Given the description of an element on the screen output the (x, y) to click on. 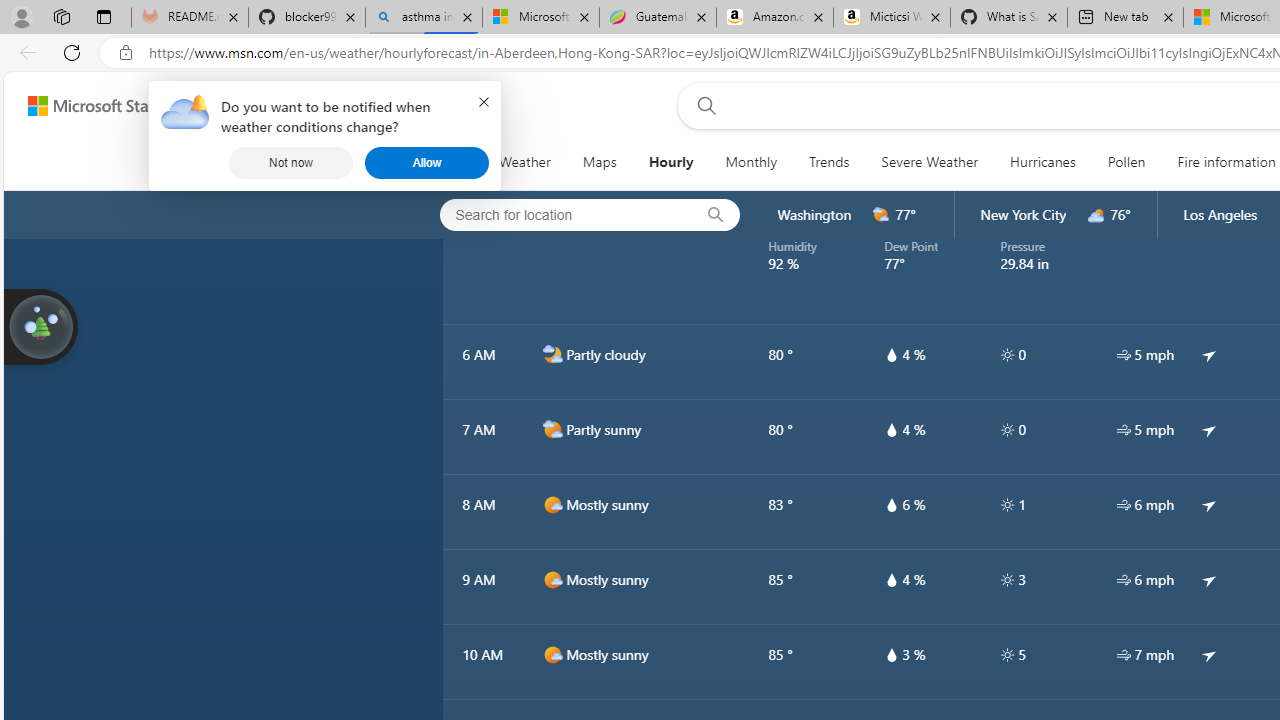
Monthly (751, 162)
locationBar/search (715, 215)
d3000 (1096, 215)
Pollen (1126, 162)
common/arrow (1209, 655)
